Given the description of an element on the screen output the (x, y) to click on. 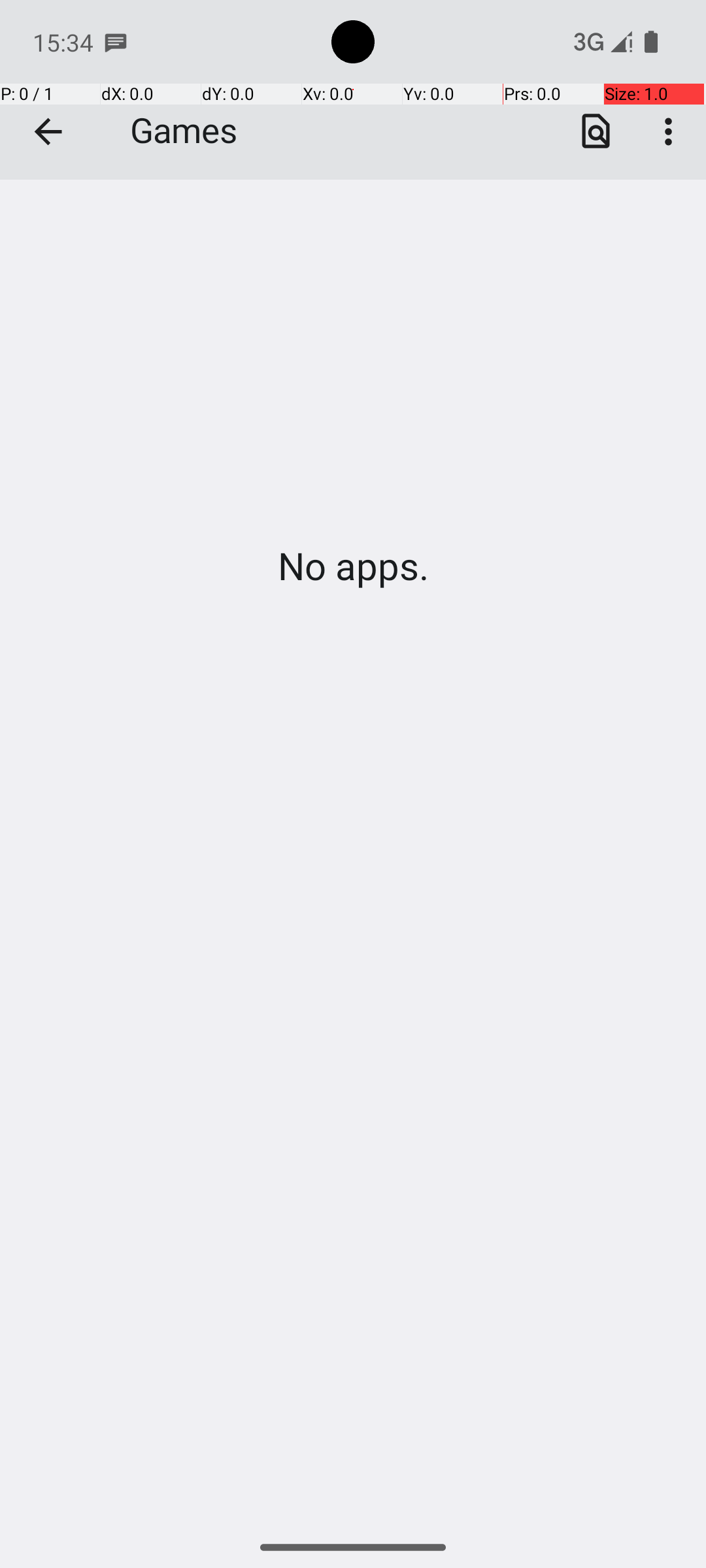
Games Element type: android.widget.FrameLayout (353, 89)
No apps. Element type: android.widget.TextView (353, 565)
